Given the description of an element on the screen output the (x, y) to click on. 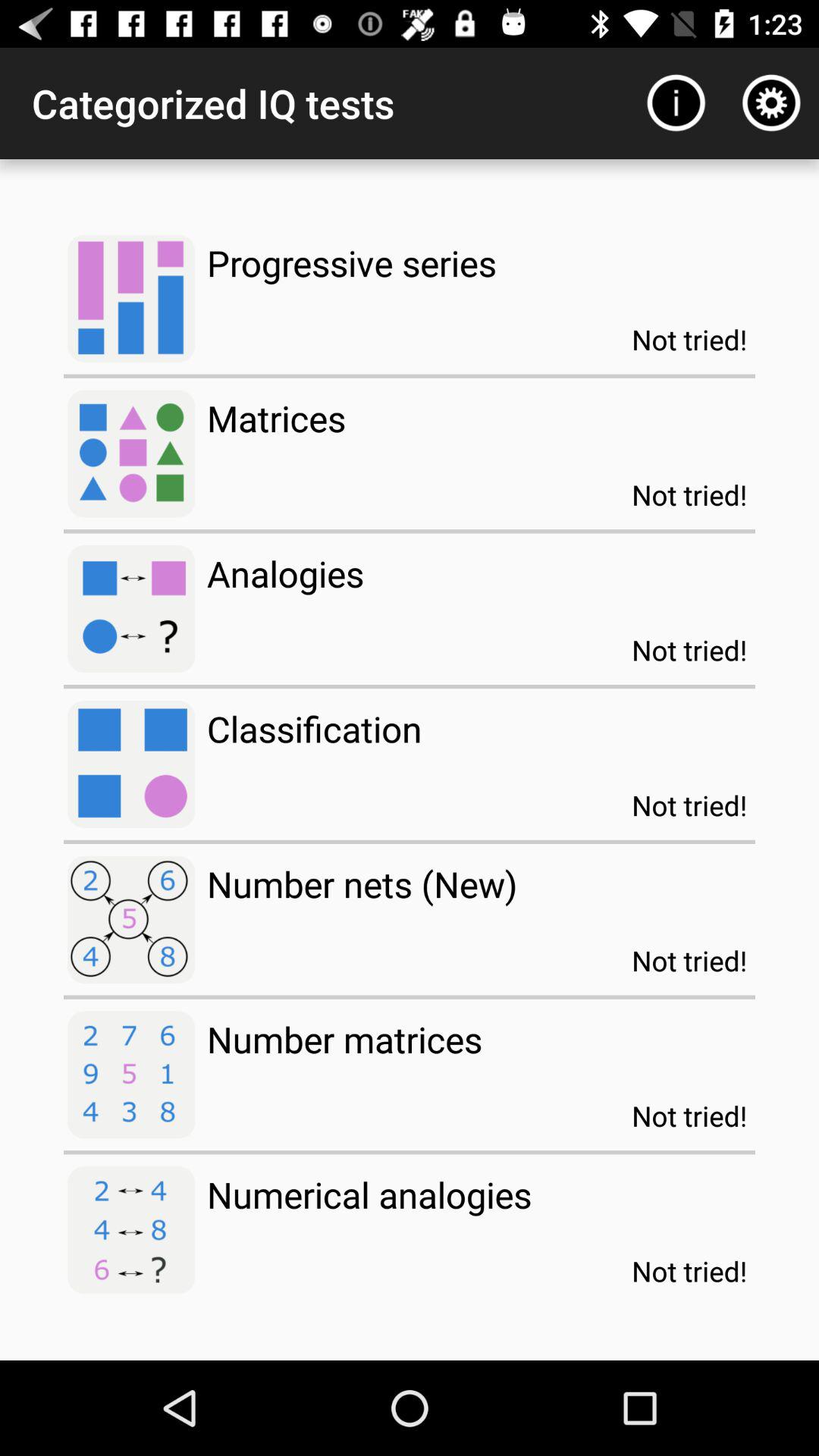
select the item above the not tried! (771, 103)
